Given the description of an element on the screen output the (x, y) to click on. 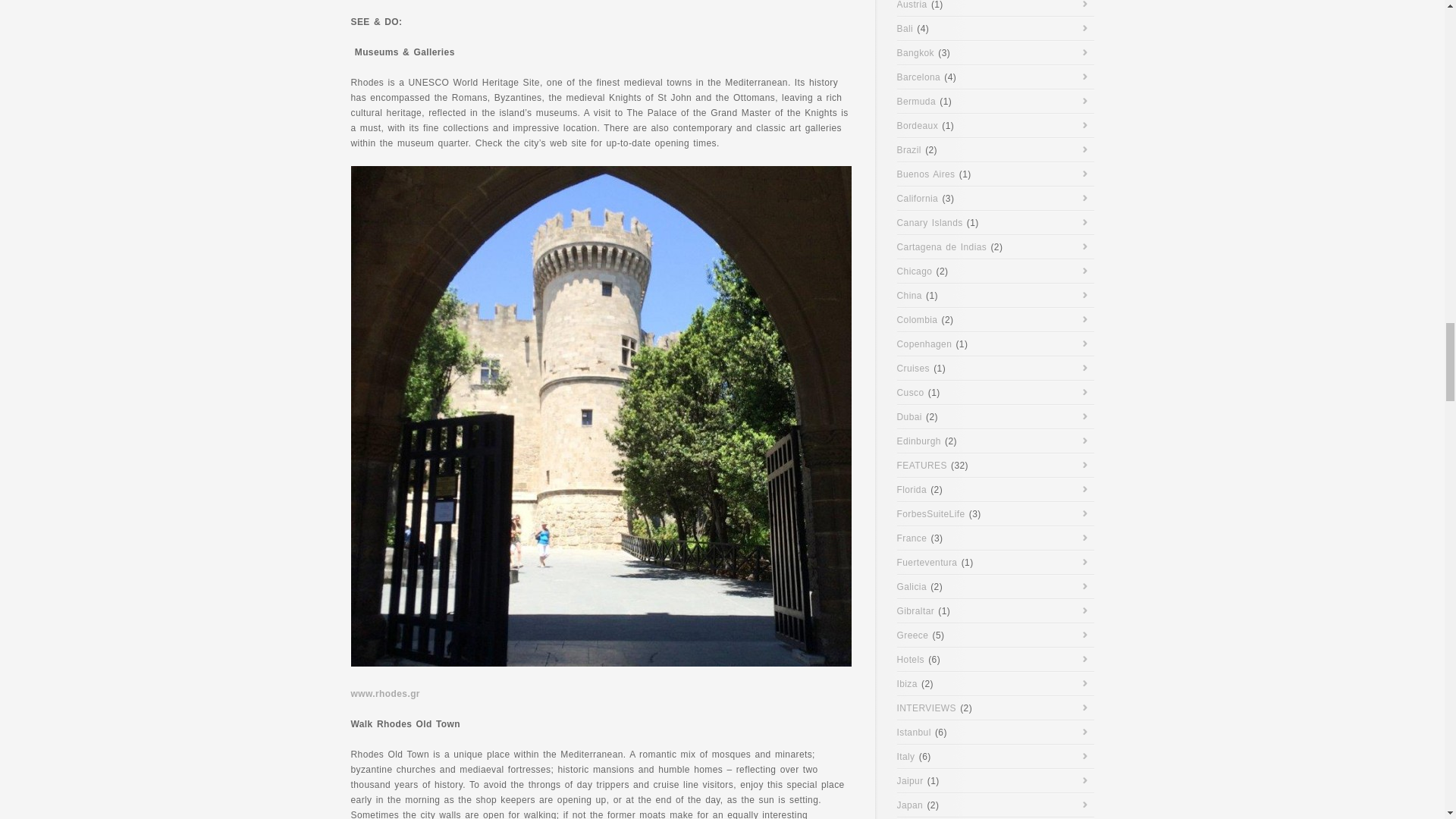
www.rhodes.gr (384, 693)
